Given the description of an element on the screen output the (x, y) to click on. 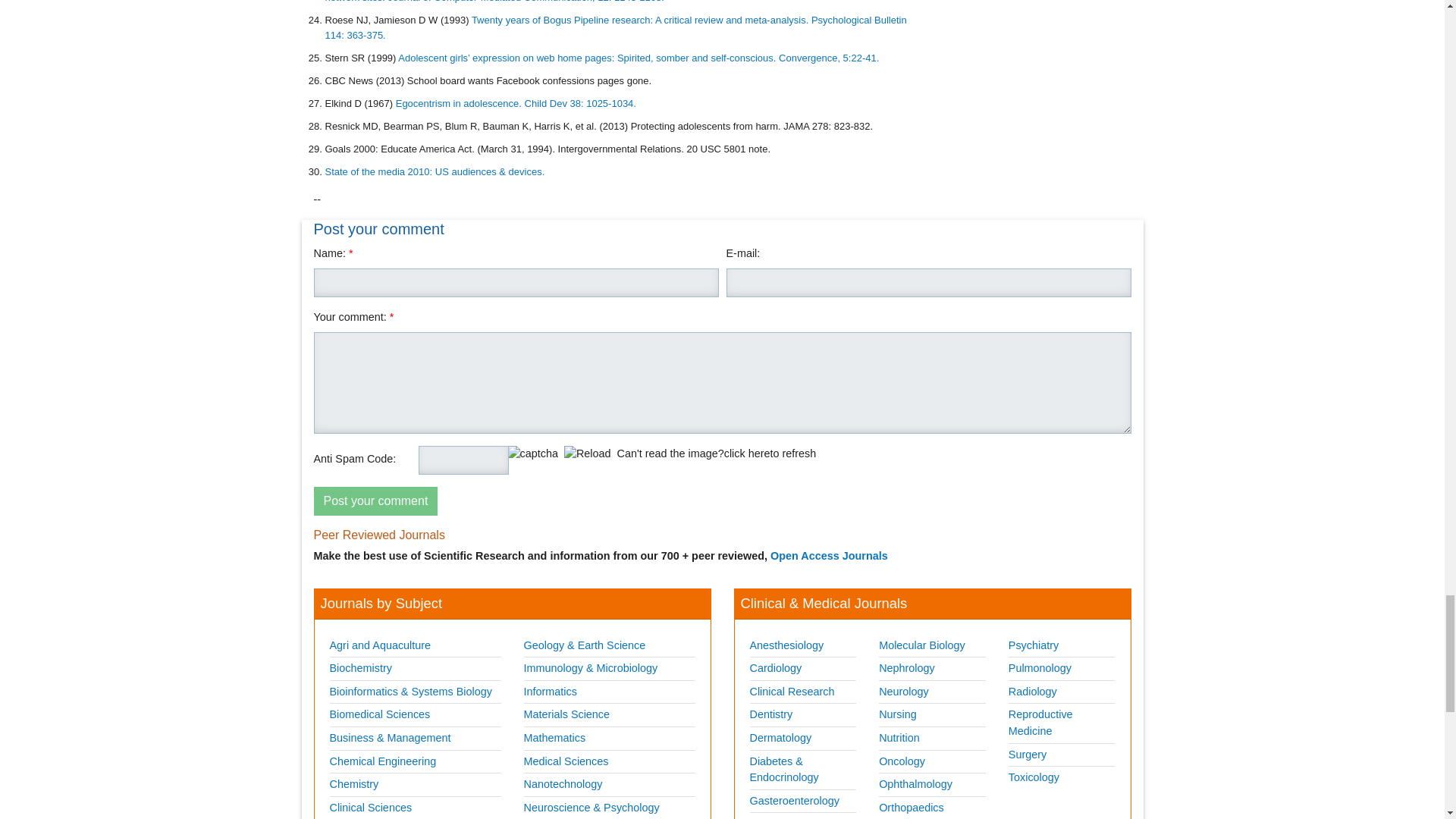
Post your comment (376, 500)
